Given the description of an element on the screen output the (x, y) to click on. 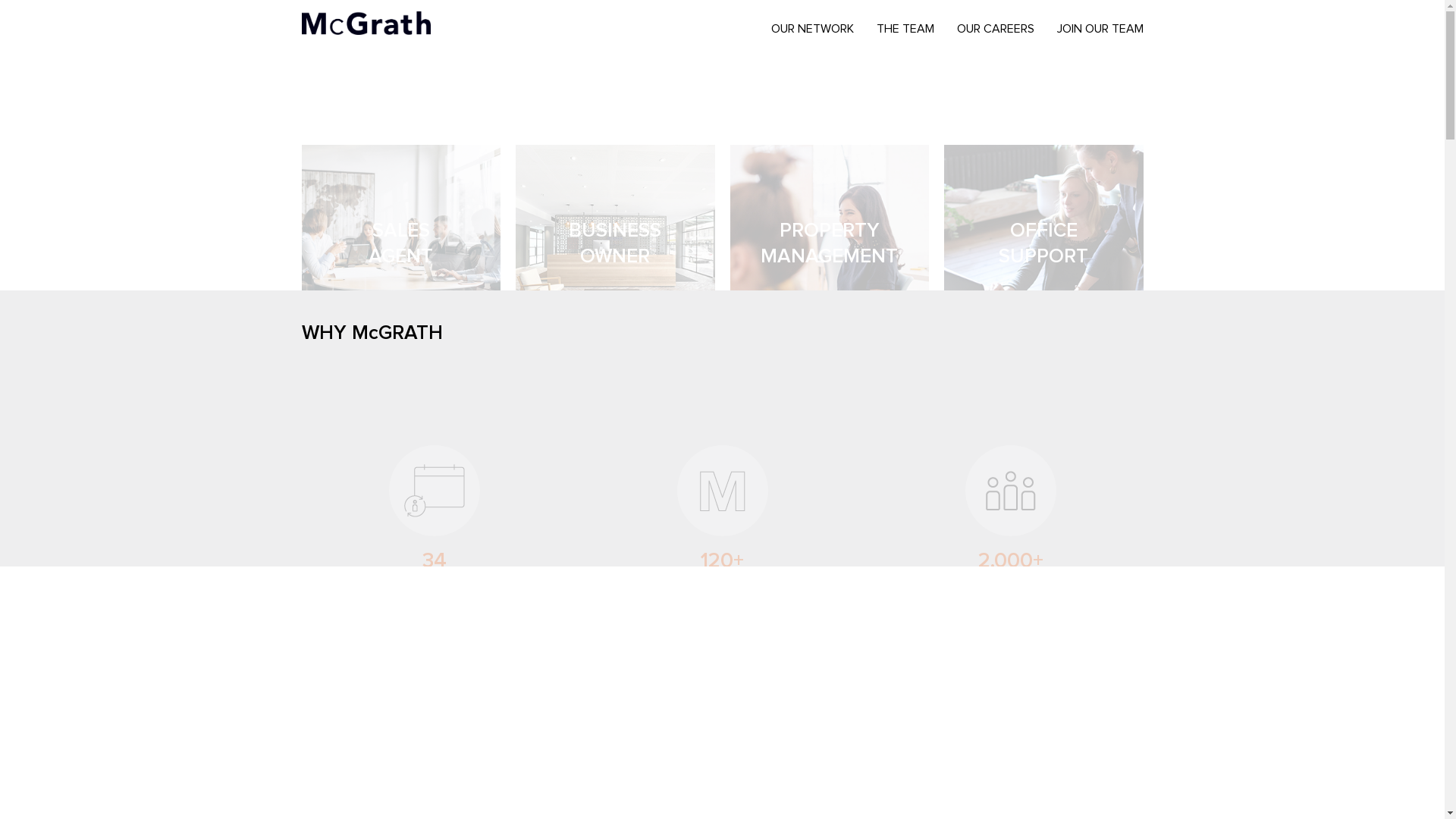
JOIN OUR TEAM Element type: text (1099, 28)
OUR NETWORK Element type: text (812, 28)
BUSINESS
OWNER Element type: text (615, 244)
THE TEAM Element type: text (904, 28)
PROPERTY
MANAGEMENT Element type: text (828, 244)
OFFICE
SUPPORT Element type: text (1043, 244)
OUR CAREERS Element type: text (994, 28)
SALES
AGENT Element type: text (401, 244)
